Given the description of an element on the screen output the (x, y) to click on. 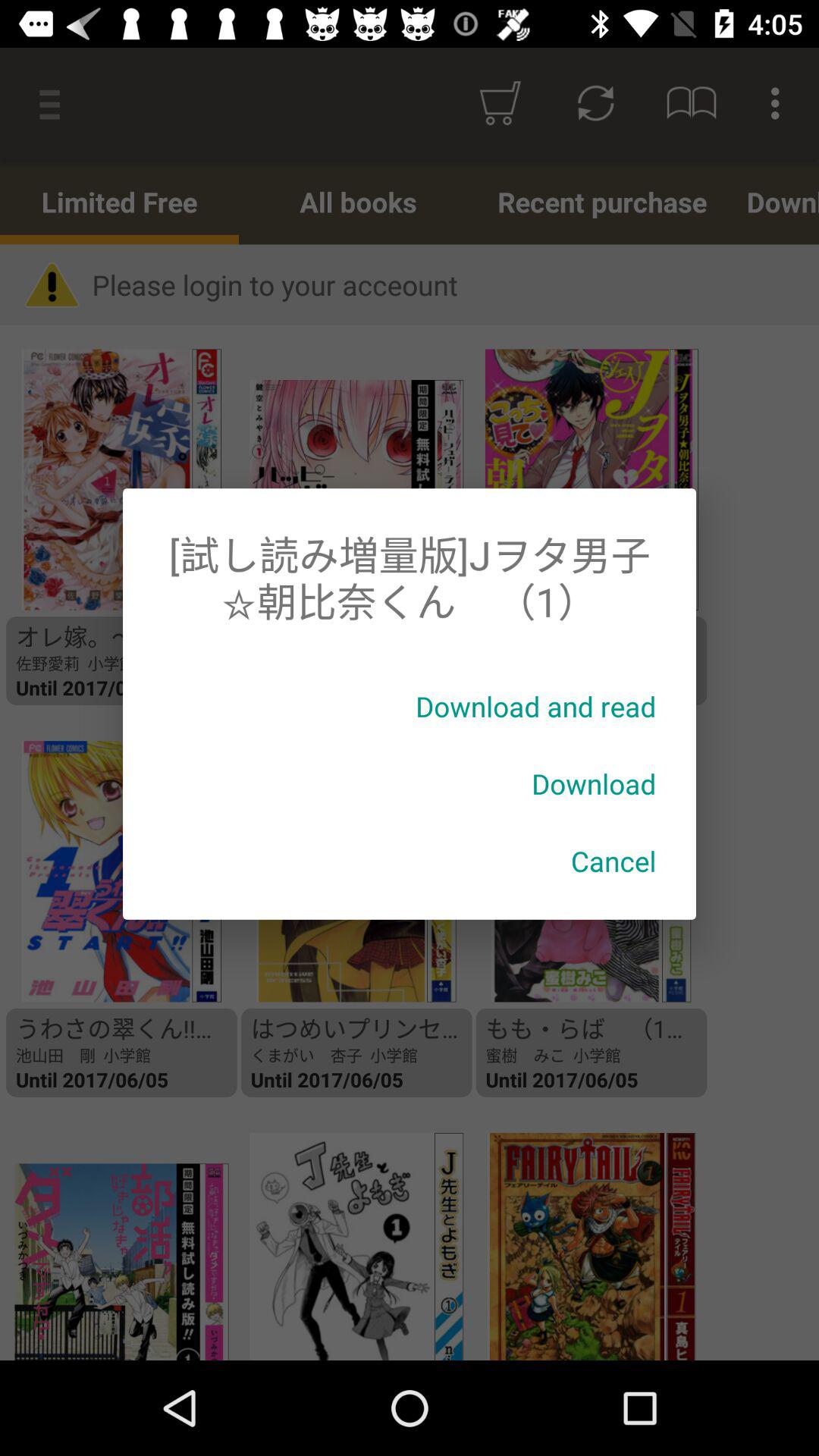
select the second book of first column in the list of limited free (107, 872)
